Given the description of an element on the screen output the (x, y) to click on. 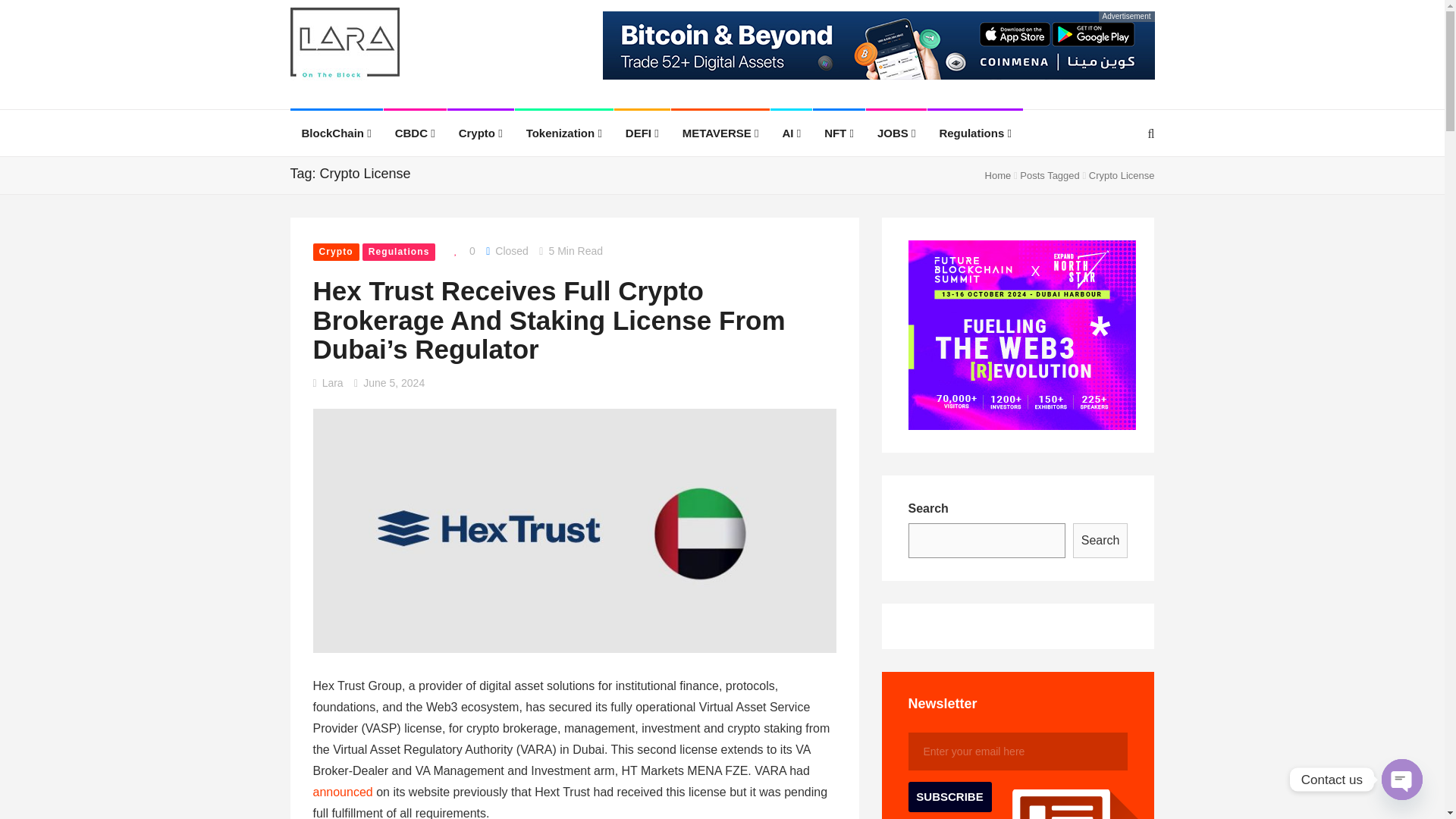
BlockChain (336, 133)
METAVERSE (720, 133)
Tokenization (563, 133)
Regulations (975, 133)
Subscribe (949, 797)
Like this (461, 250)
LARA on the Block (343, 45)
Crypto (480, 133)
BlockChain (336, 133)
